Given the description of an element on the screen output the (x, y) to click on. 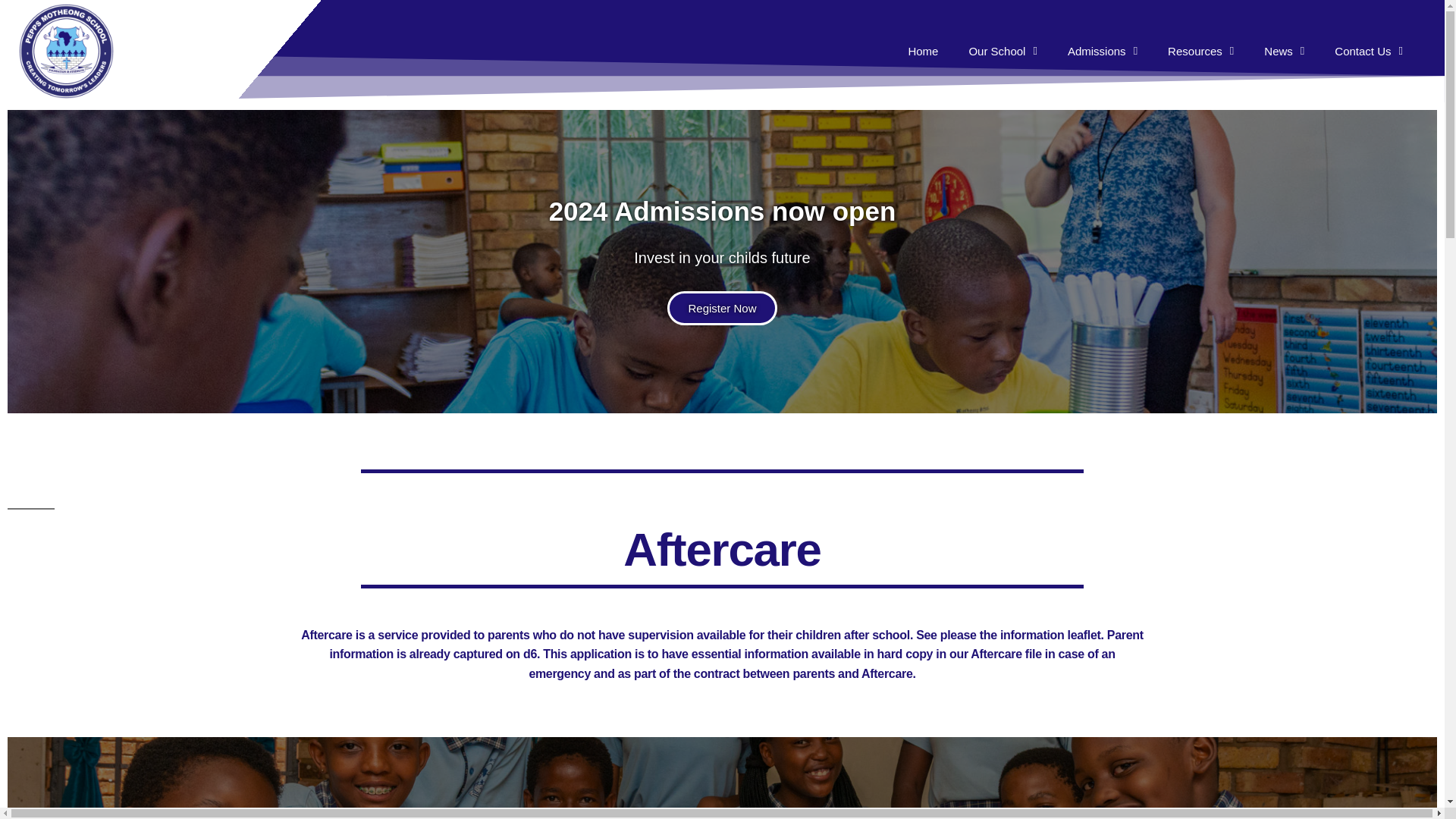
Admissions (1111, 51)
News (1284, 51)
Resources (1201, 51)
Contact Us (1368, 51)
